Given the description of an element on the screen output the (x, y) to click on. 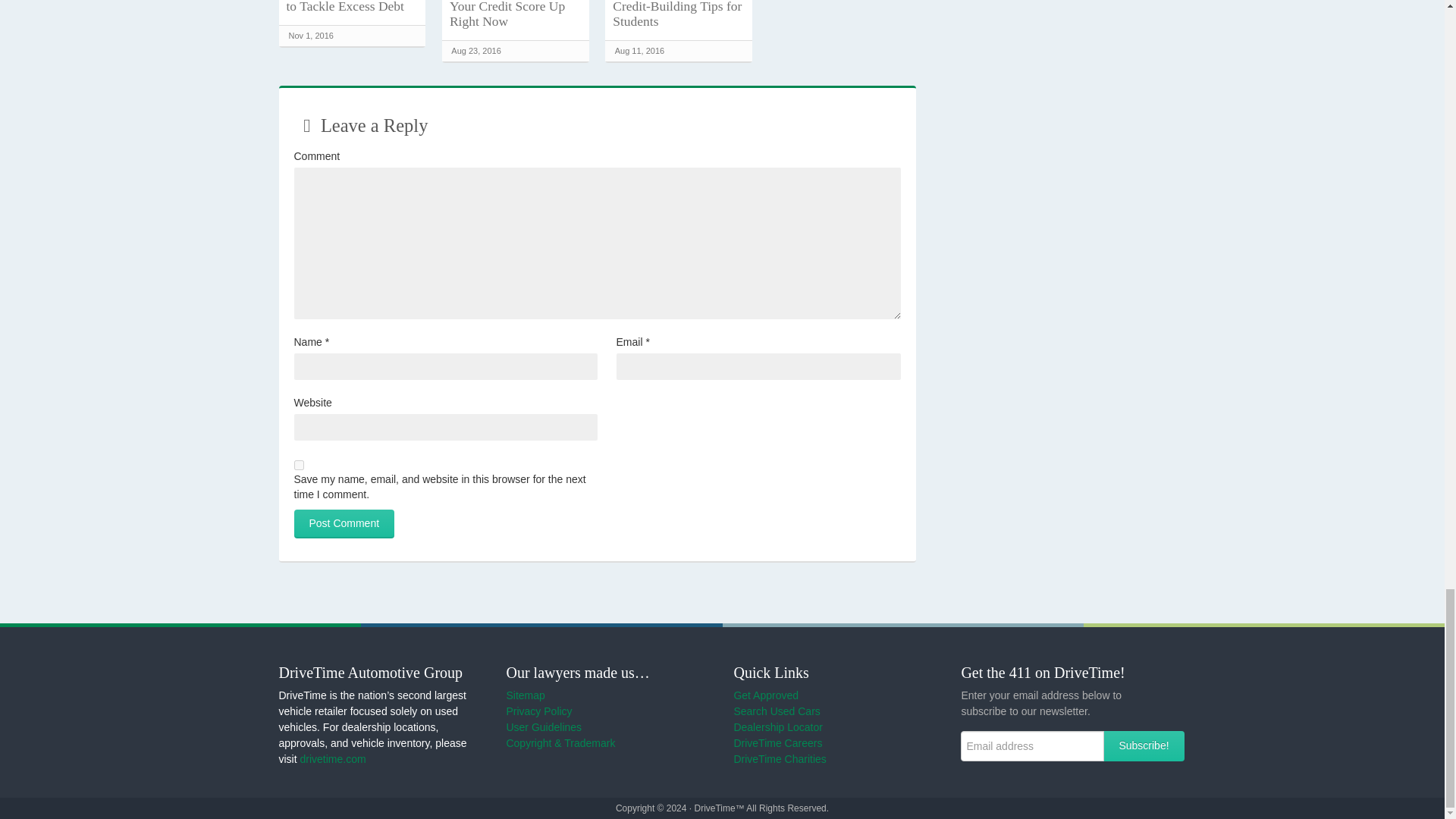
Get Schooled on Credit: Credit-Building Tips for Students (678, 14)
Rising Up: Tips to Bring Your Credit Score Up Right Now (514, 14)
Post Comment (344, 523)
Down with Debt: 4 Tips to Tackle Excess Debt (352, 6)
yes (299, 465)
Down with Debt: 4 Tips to Tackle Excess Debt (352, 6)
Get Schooled on Credit: Credit-Building Tips for Students (678, 14)
Rising Up: Tips to Bring Your Credit Score Up Right Now (514, 14)
